Given the description of an element on the screen output the (x, y) to click on. 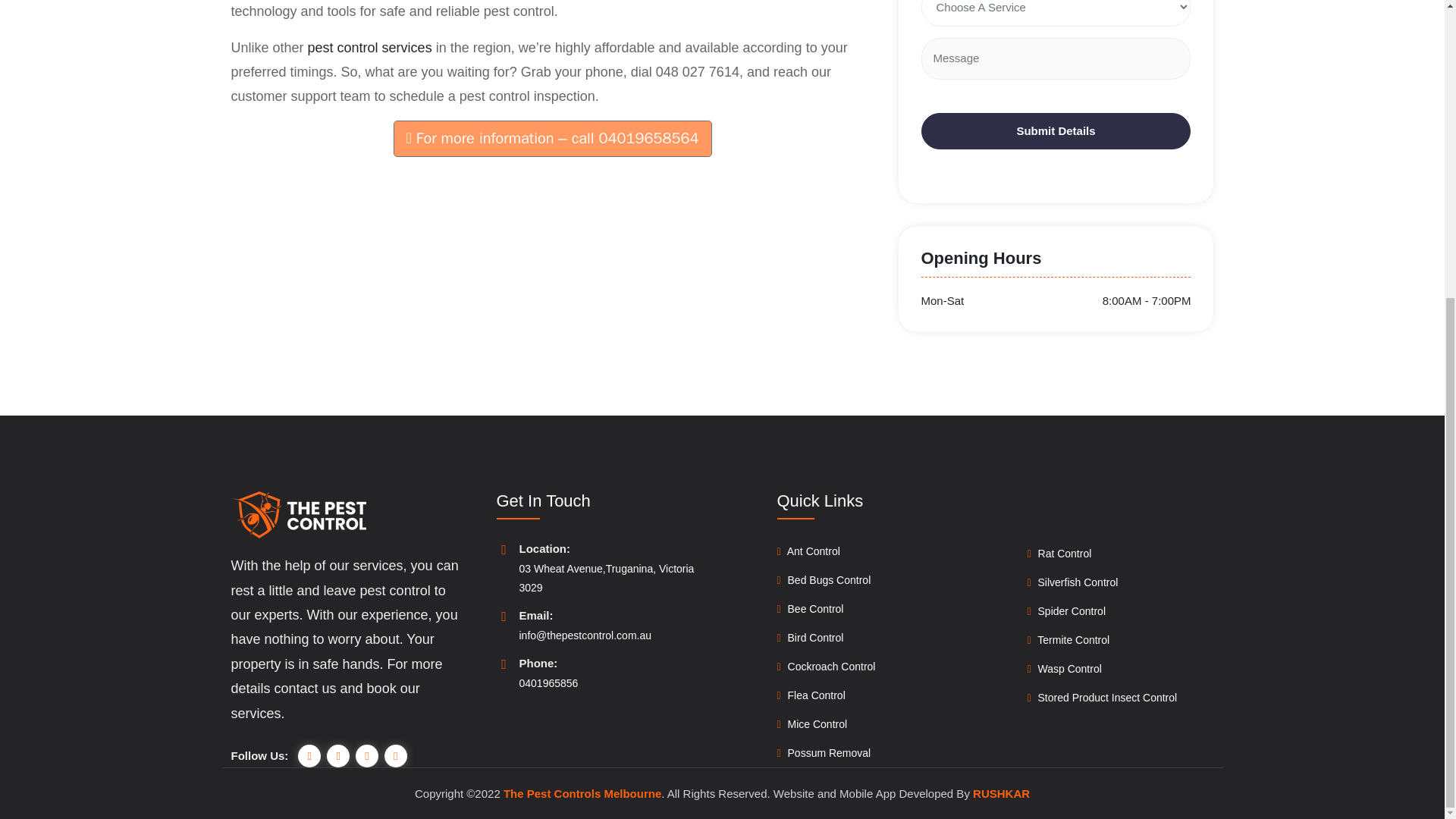
pest control services (369, 47)
Submit Details (1055, 131)
Submit Details (1055, 131)
04019658564 (648, 138)
